Given the description of an element on the screen output the (x, y) to click on. 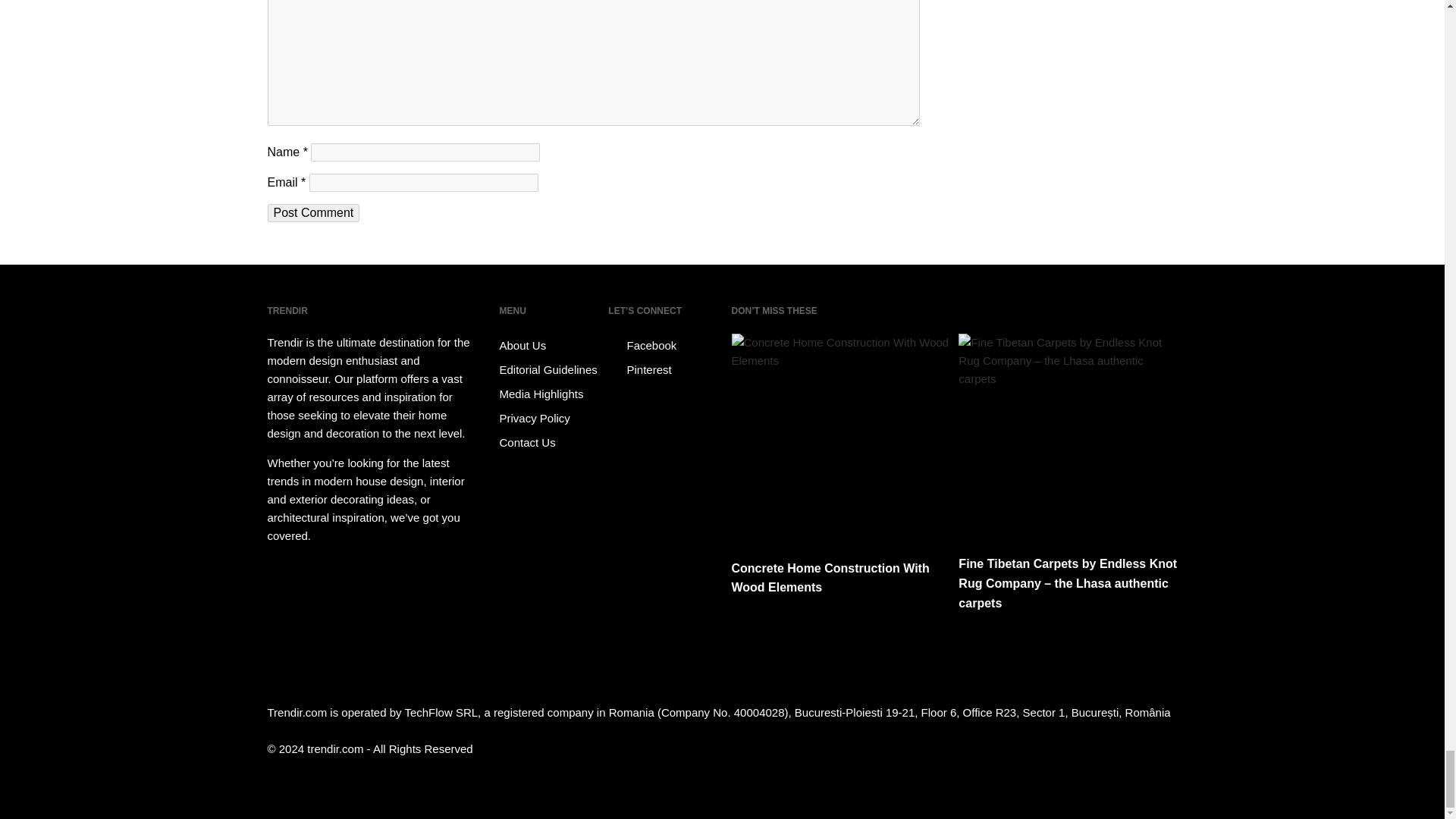
Trendir Editorial Guidelines (551, 369)
About Us - Trendir (551, 345)
Media Highlights - Trendir (551, 394)
About Us (551, 345)
Post Comment (312, 212)
Post Comment (312, 212)
